Given the description of an element on the screen output the (x, y) to click on. 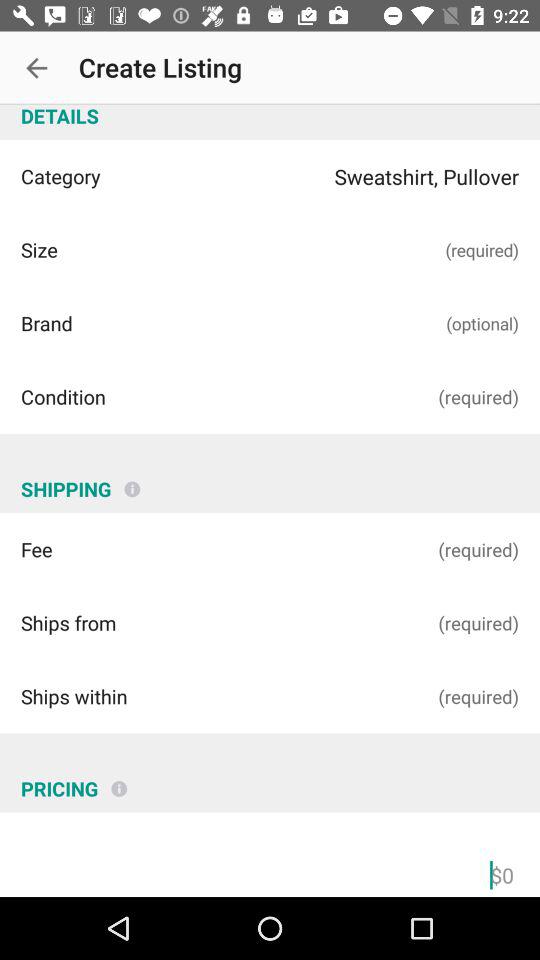
price field (270, 872)
